Given the description of an element on the screen output the (x, y) to click on. 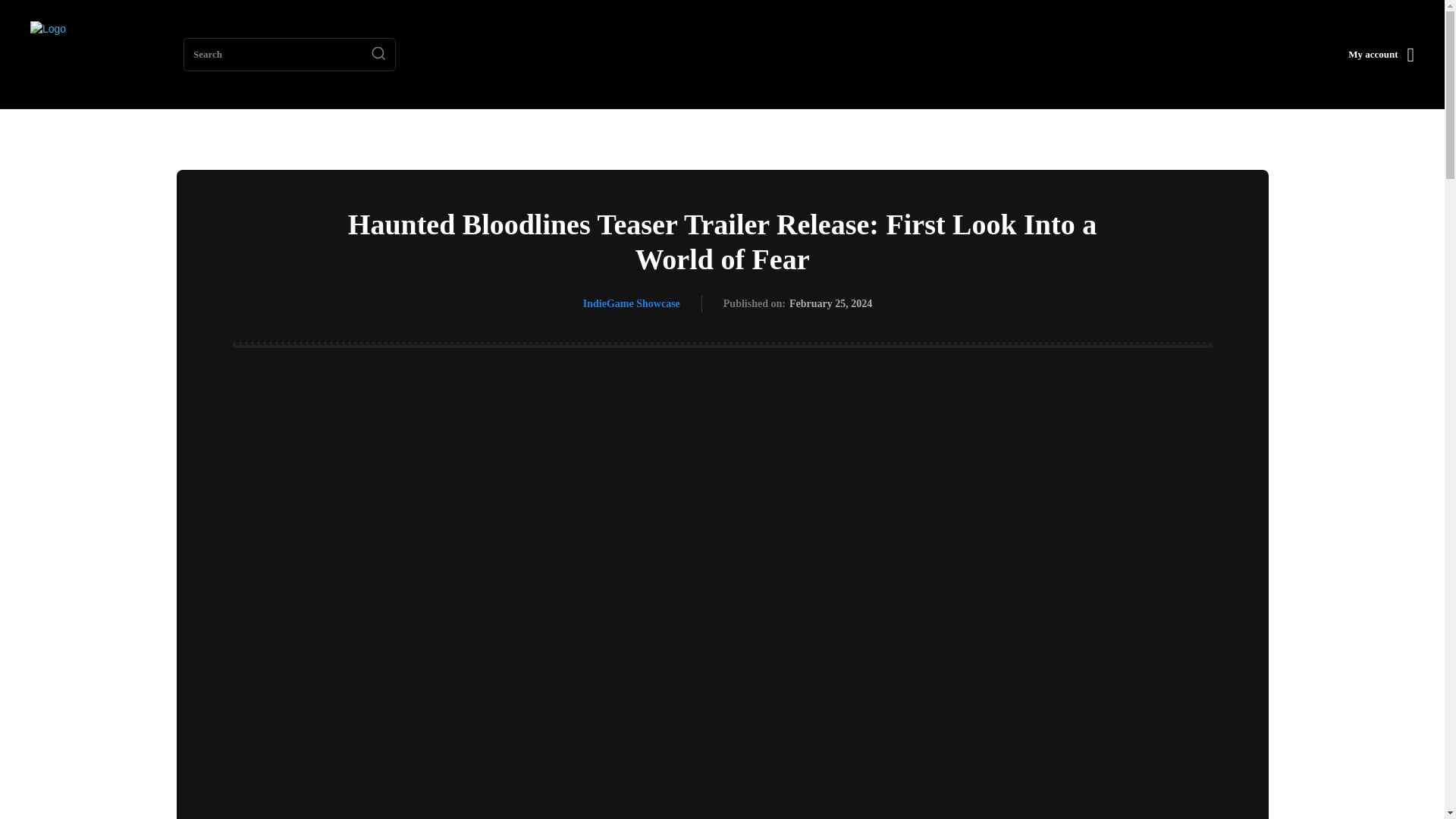
IndieGame Showcase (631, 304)
